Given the description of an element on the screen output the (x, y) to click on. 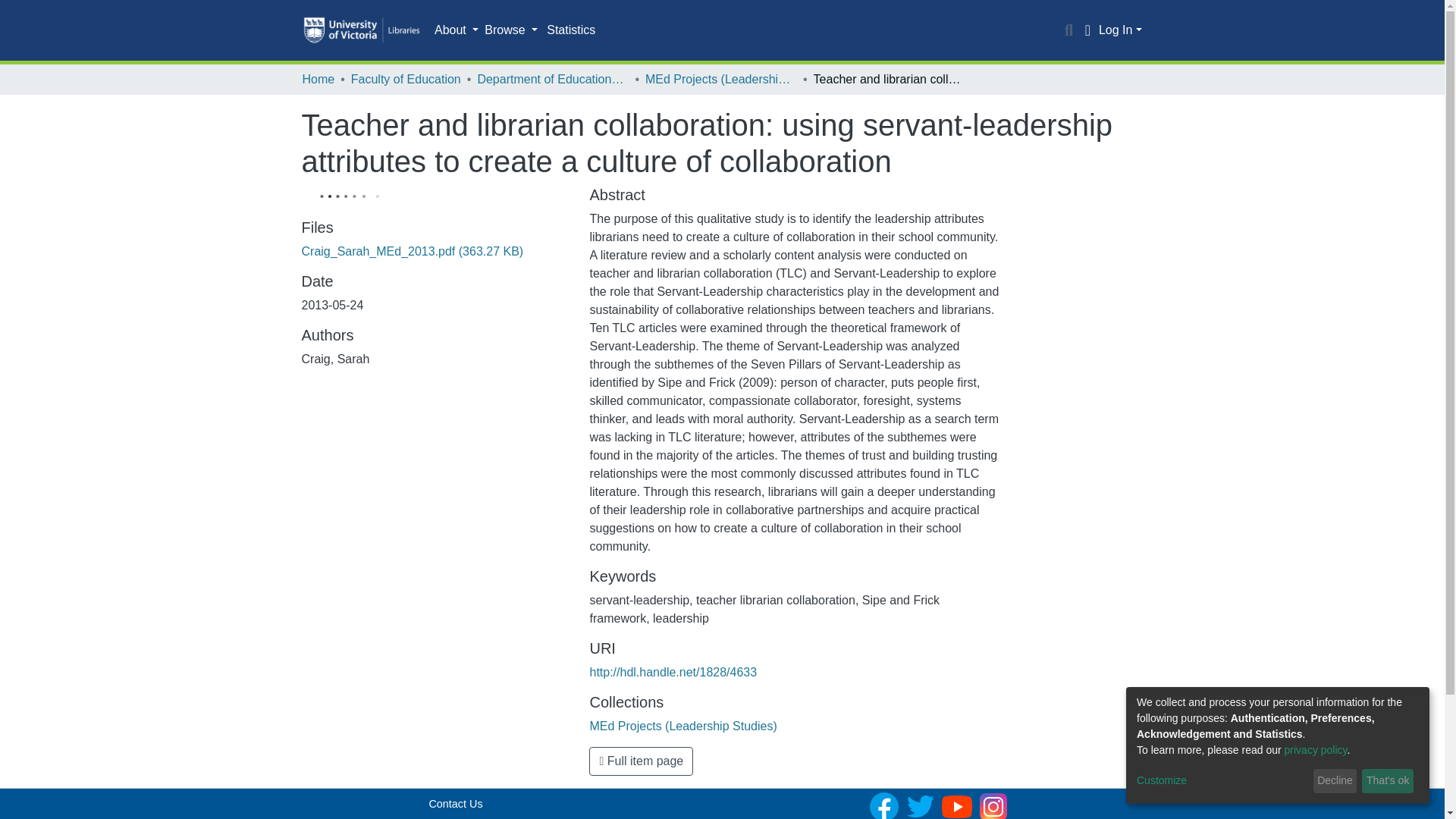
Home (317, 79)
Language switch (1087, 30)
Faculty of Education (405, 79)
Browse (510, 30)
About (455, 30)
Log In (1119, 29)
Search (1068, 30)
Contact Us (454, 803)
Statistics (570, 30)
Department of Educational Psychology and Leadership Studies (552, 79)
Full item page (641, 760)
Statistics (570, 30)
